Given the description of an element on the screen output the (x, y) to click on. 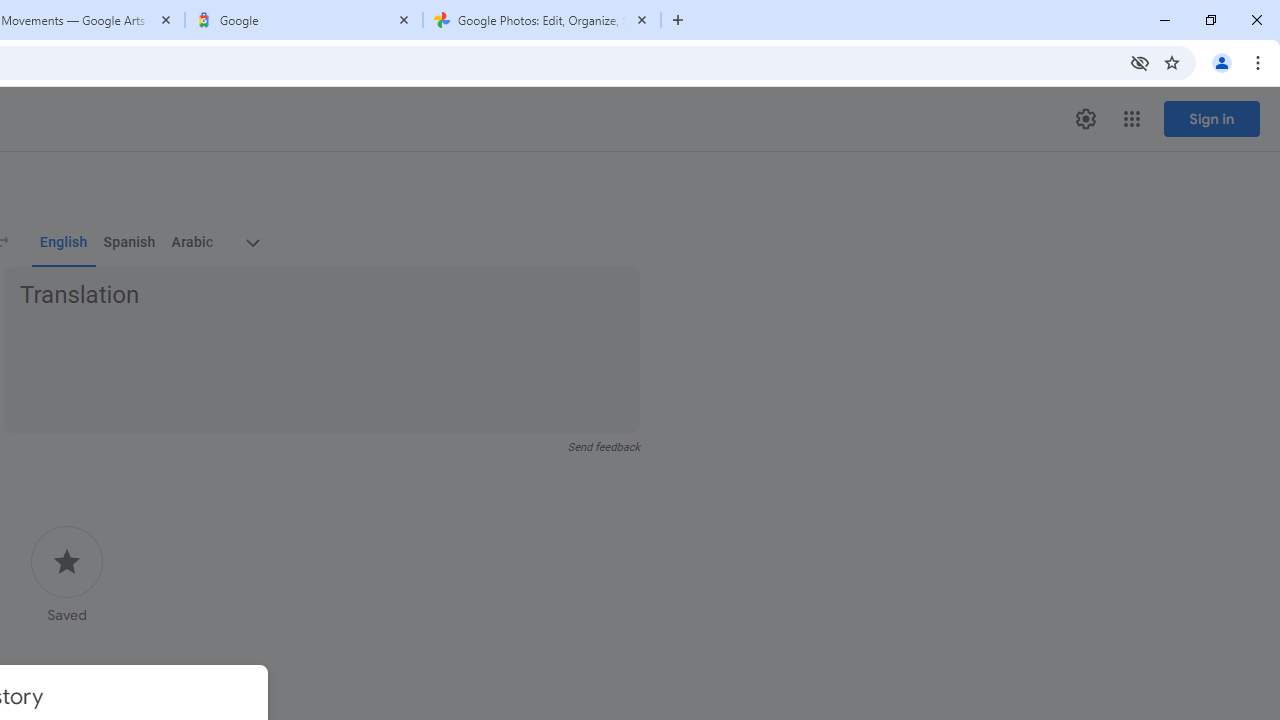
Google (304, 20)
